Given the description of an element on the screen output the (x, y) to click on. 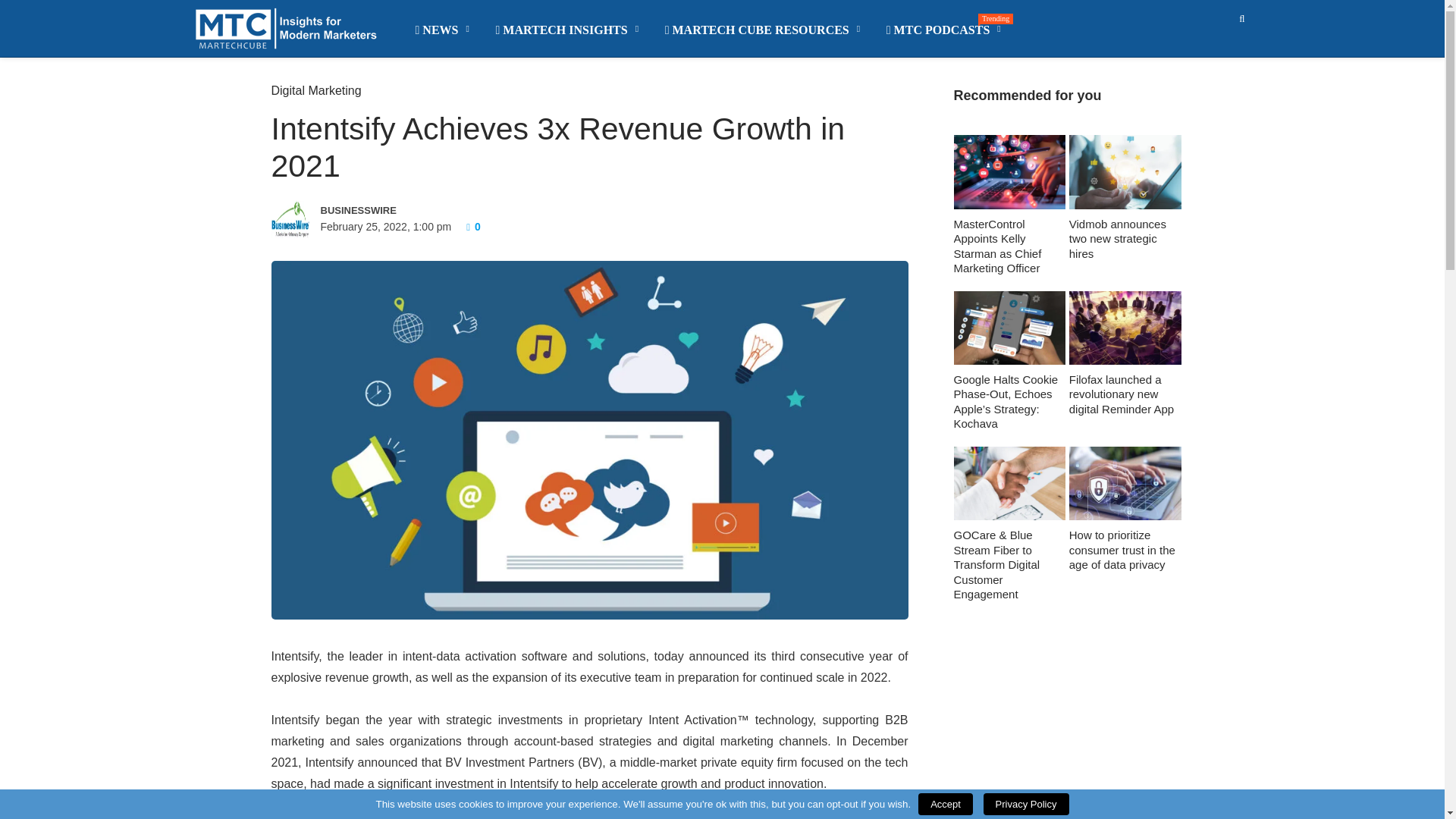
NEWS (443, 30)
View all posts by BusinessWire (426, 209)
